Given the description of an element on the screen output the (x, y) to click on. 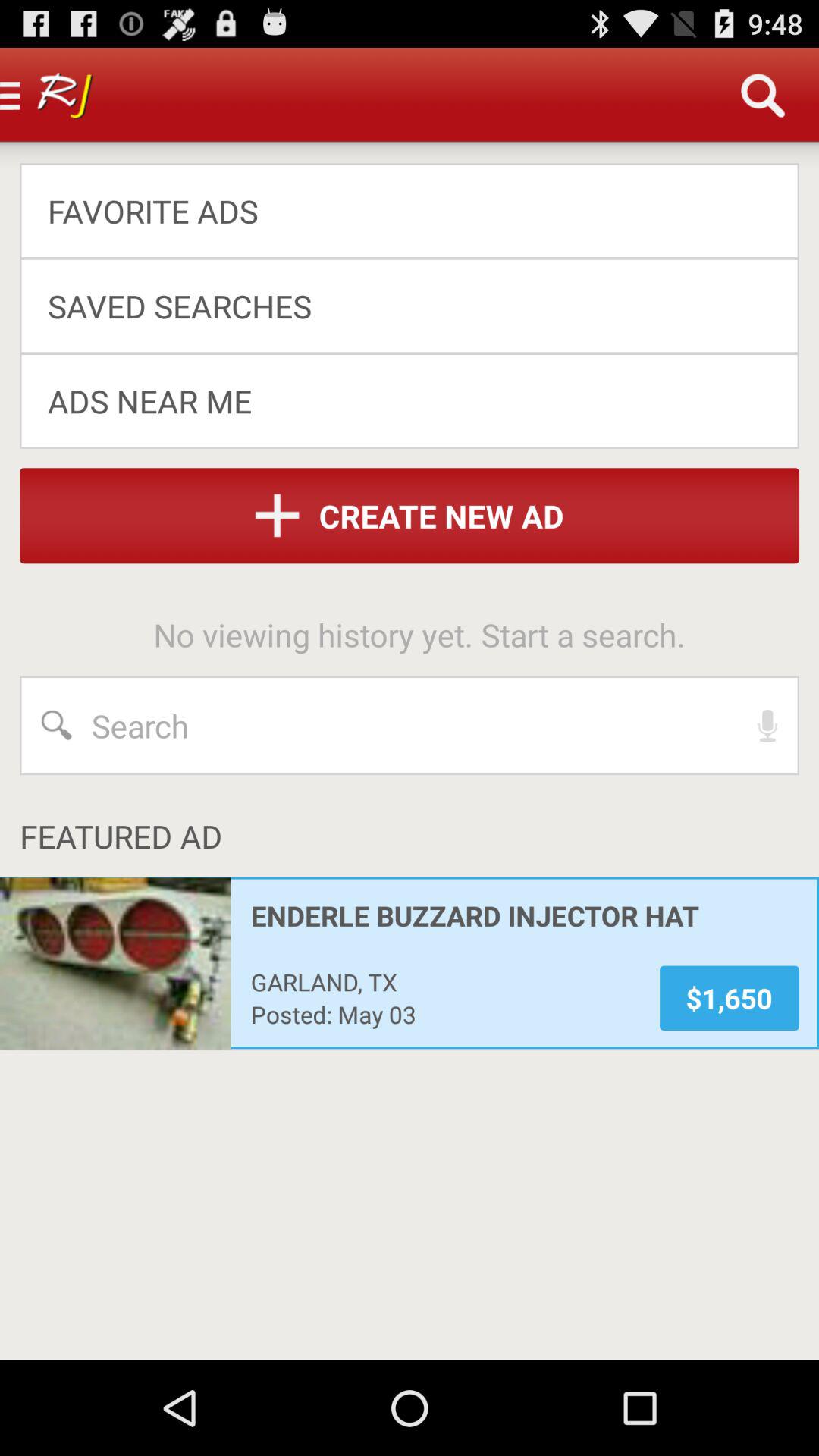
search (409, 725)
